Given the description of an element on the screen output the (x, y) to click on. 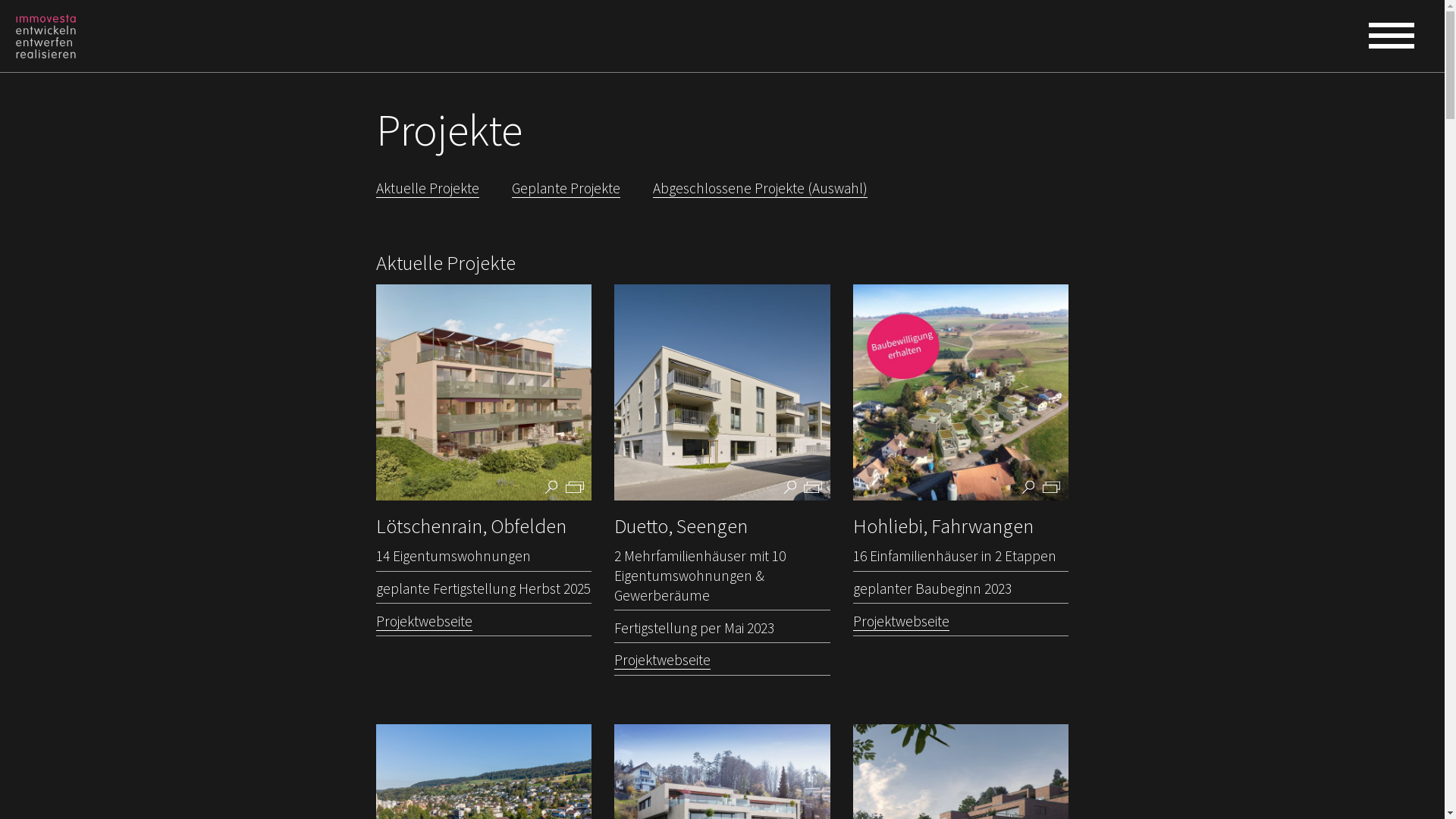
Projektwebseite Element type: text (662, 659)
Projektwebseite Element type: text (901, 620)
Aktuelle Projekte Element type: text (427, 187)
Projektwebseite Element type: text (424, 620)
Geplante Projekte Element type: text (565, 187)
Abgeschlossene Projekte (Auswahl) Element type: text (759, 187)
